Given the description of an element on the screen output the (x, y) to click on. 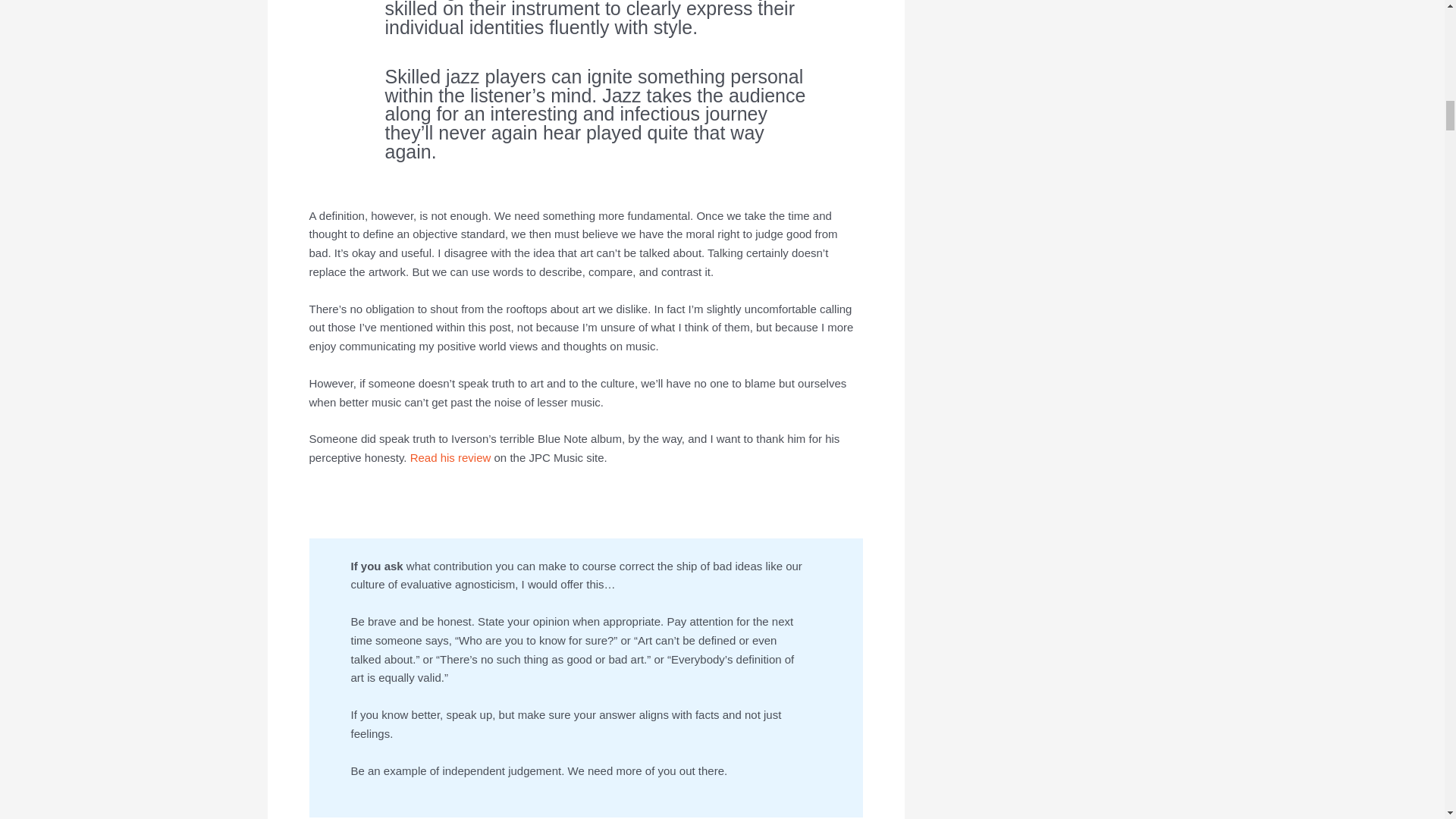
Read his review (451, 457)
